Given the description of an element on the screen output the (x, y) to click on. 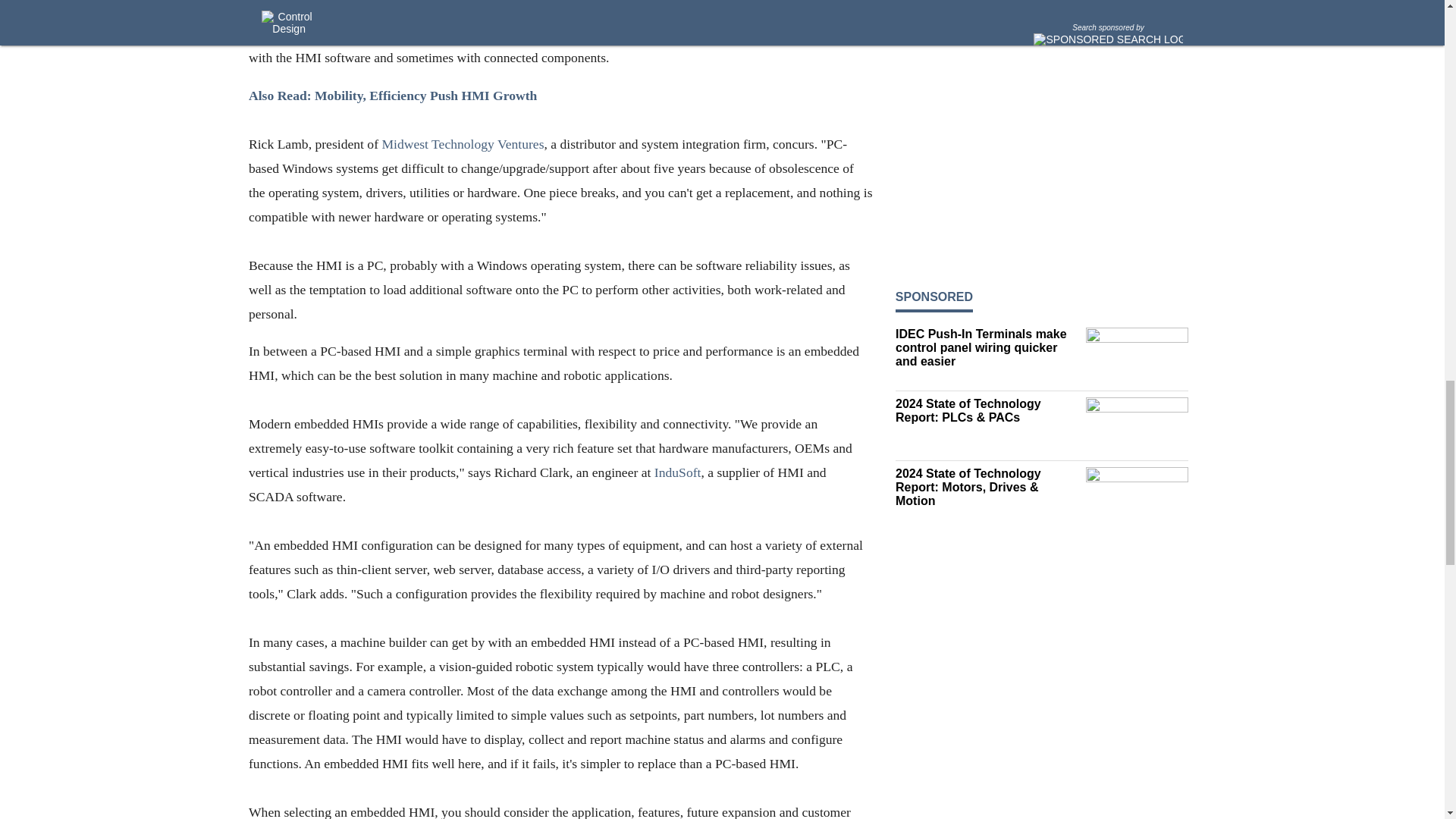
Also Read: Mobility, Efficiency Push HMI Growth (392, 95)
Midwest Technology Ventures (462, 143)
InduSoft (676, 472)
